Given the description of an element on the screen output the (x, y) to click on. 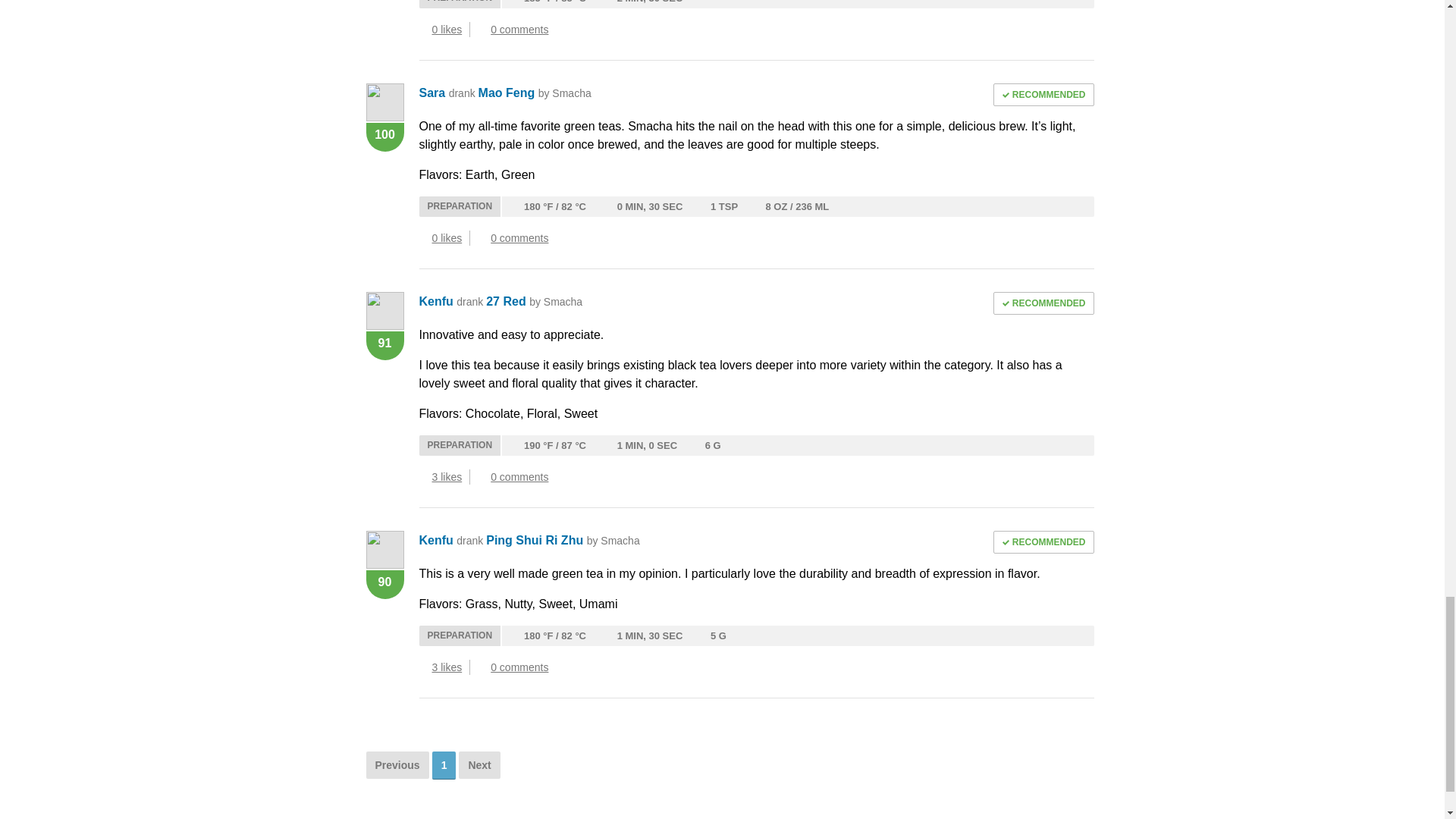
Like This (423, 666)
Like This (423, 29)
Like This (423, 237)
Like This (423, 476)
